Given the description of an element on the screen output the (x, y) to click on. 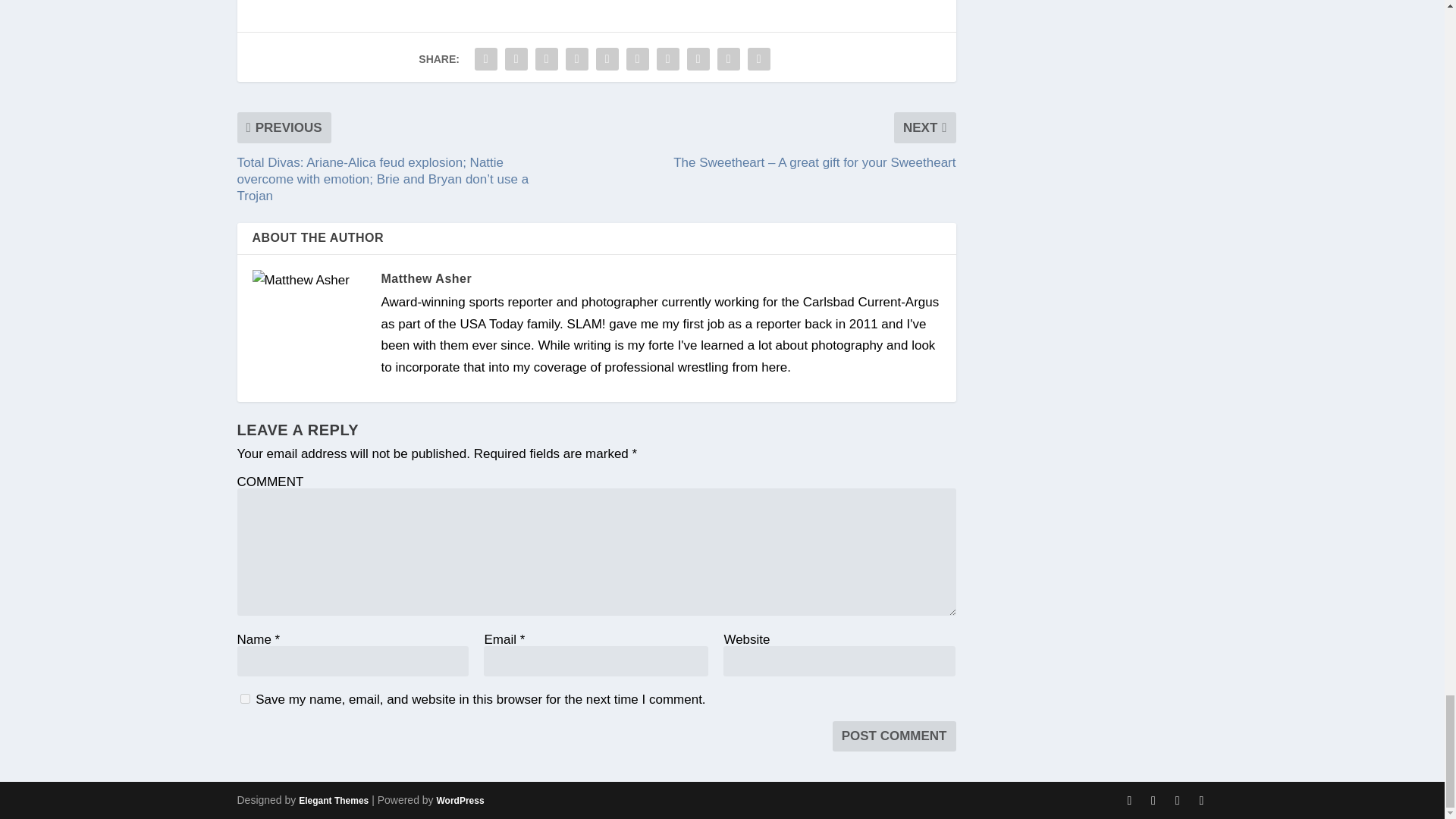
Post Comment (894, 736)
Post Comment (894, 736)
Matthew Asher (425, 278)
